Given the description of an element on the screen output the (x, y) to click on. 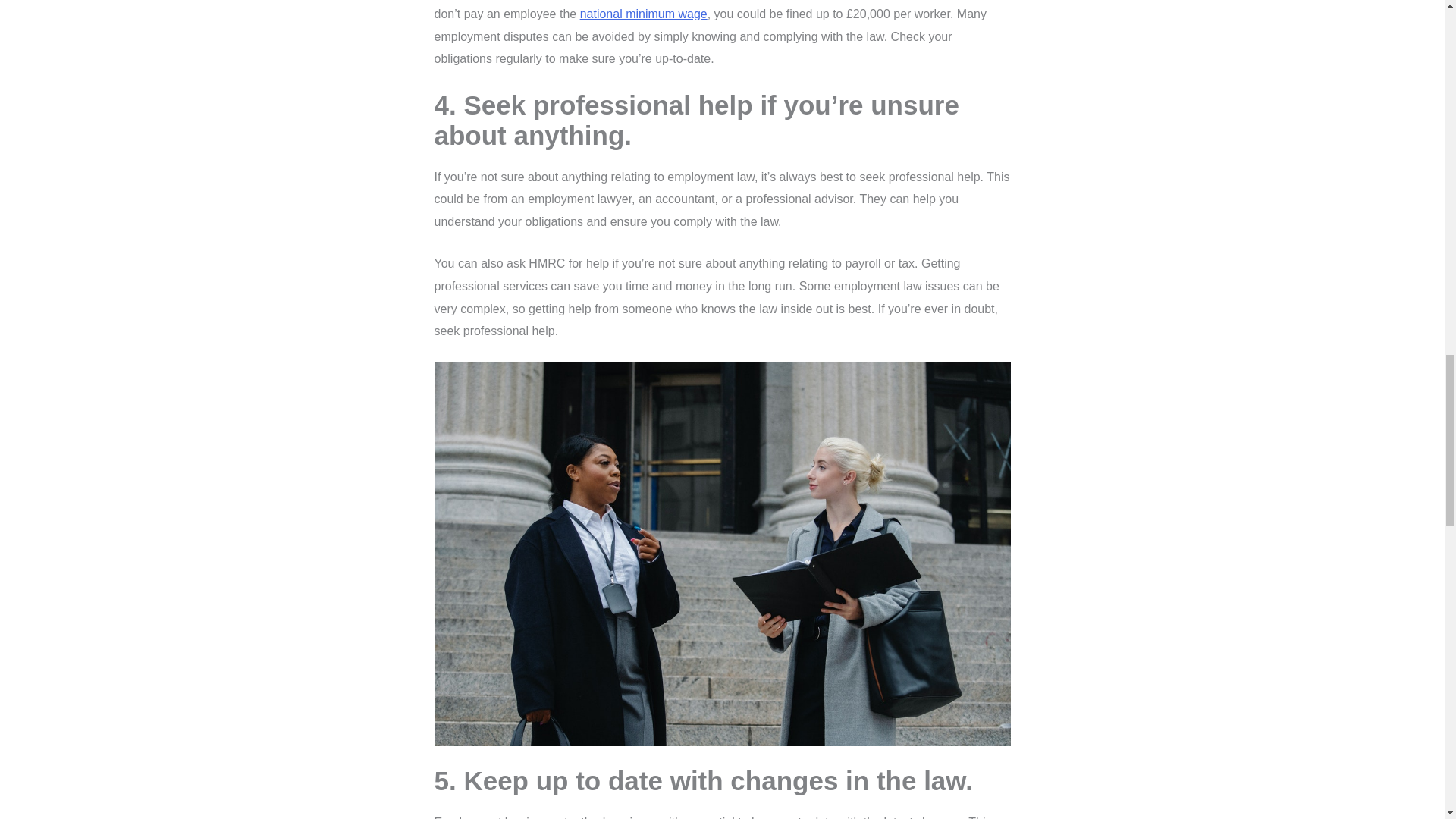
national minimum wage (643, 13)
